Given the description of an element on the screen output the (x, y) to click on. 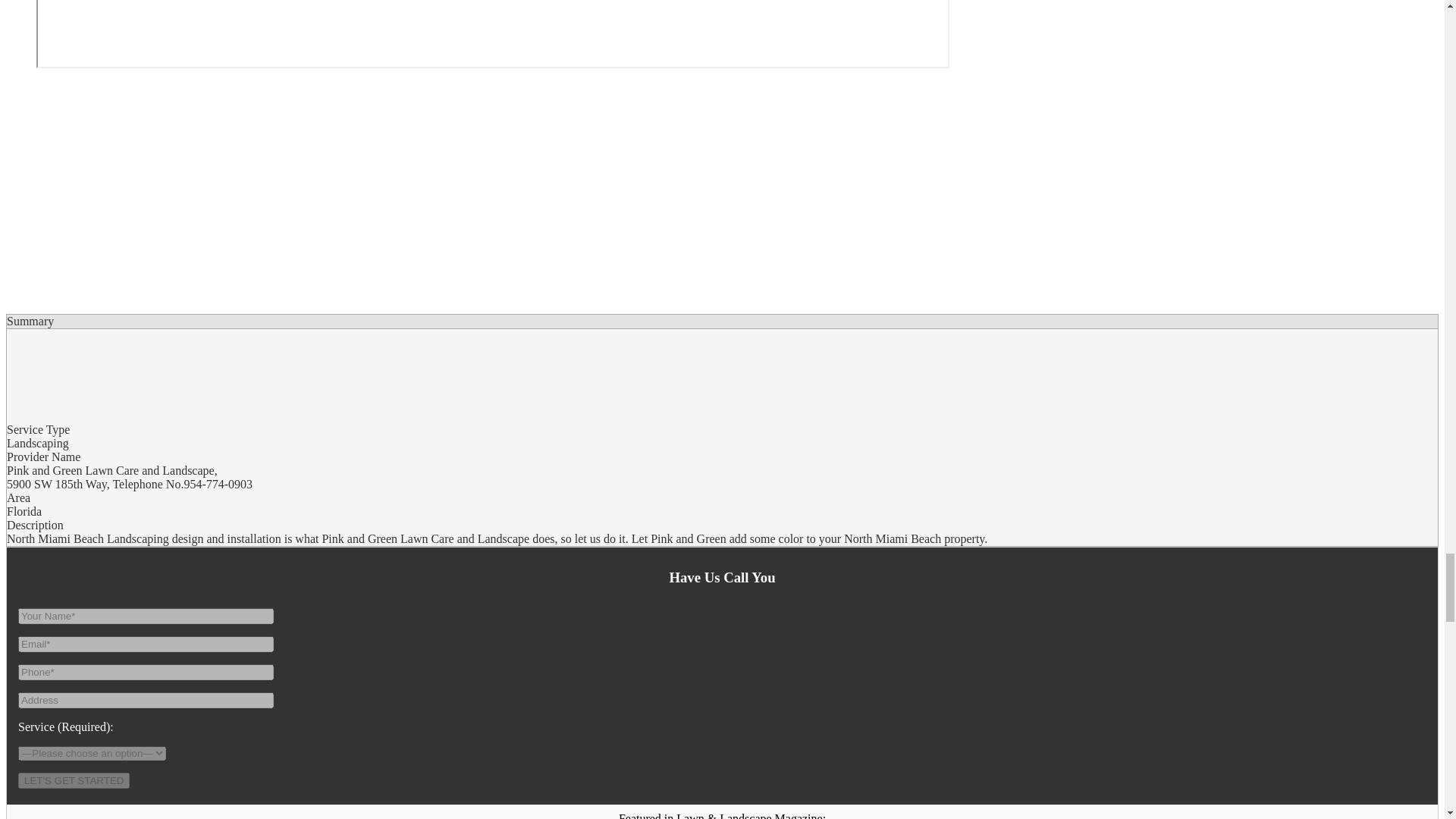
LET'S GET STARTED (73, 780)
